Given the description of an element on the screen output the (x, y) to click on. 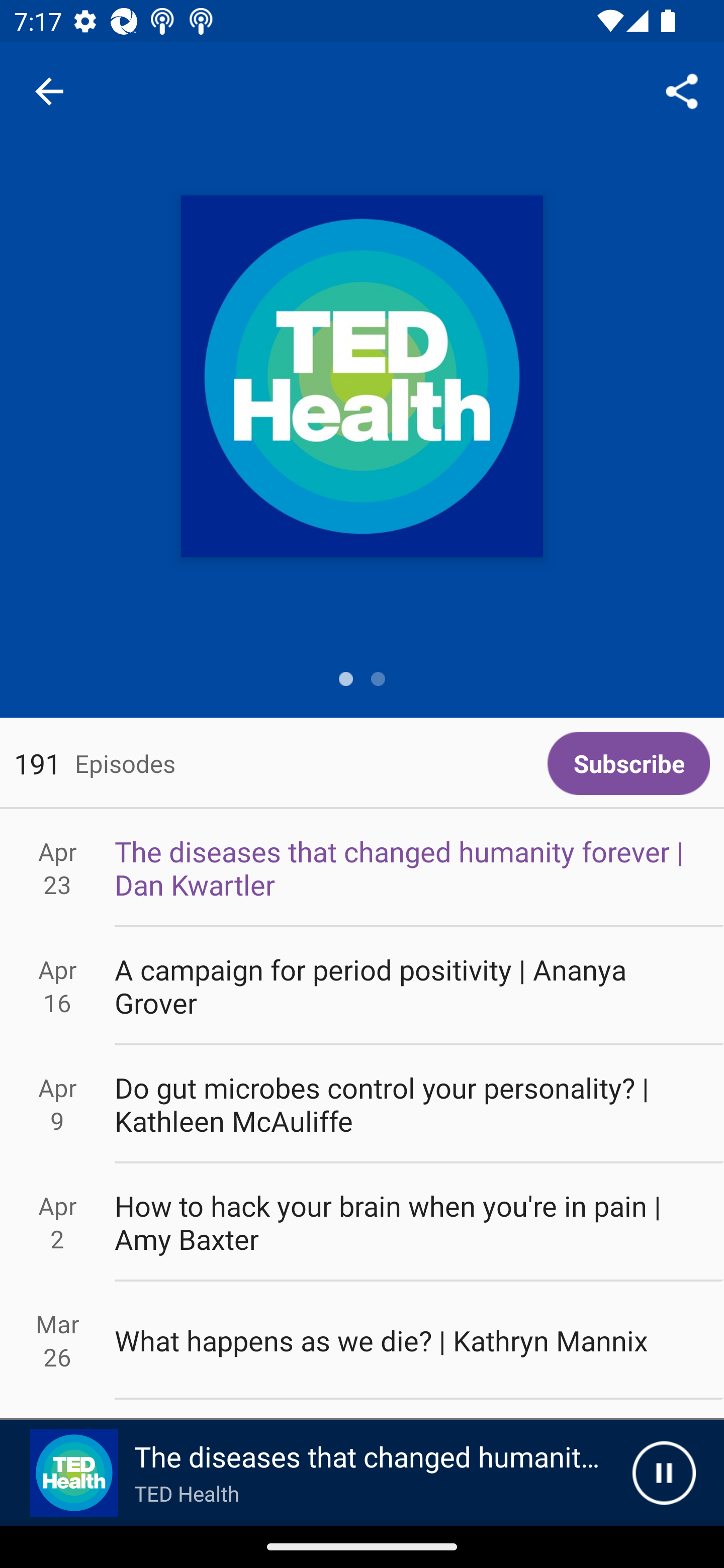
Navigate up (49, 91)
Share... (681, 90)
Subscribe (628, 763)
Mar 26 What happens as we die? | Kathryn Mannix (362, 1340)
Pause (663, 1472)
